Given the description of an element on the screen output the (x, y) to click on. 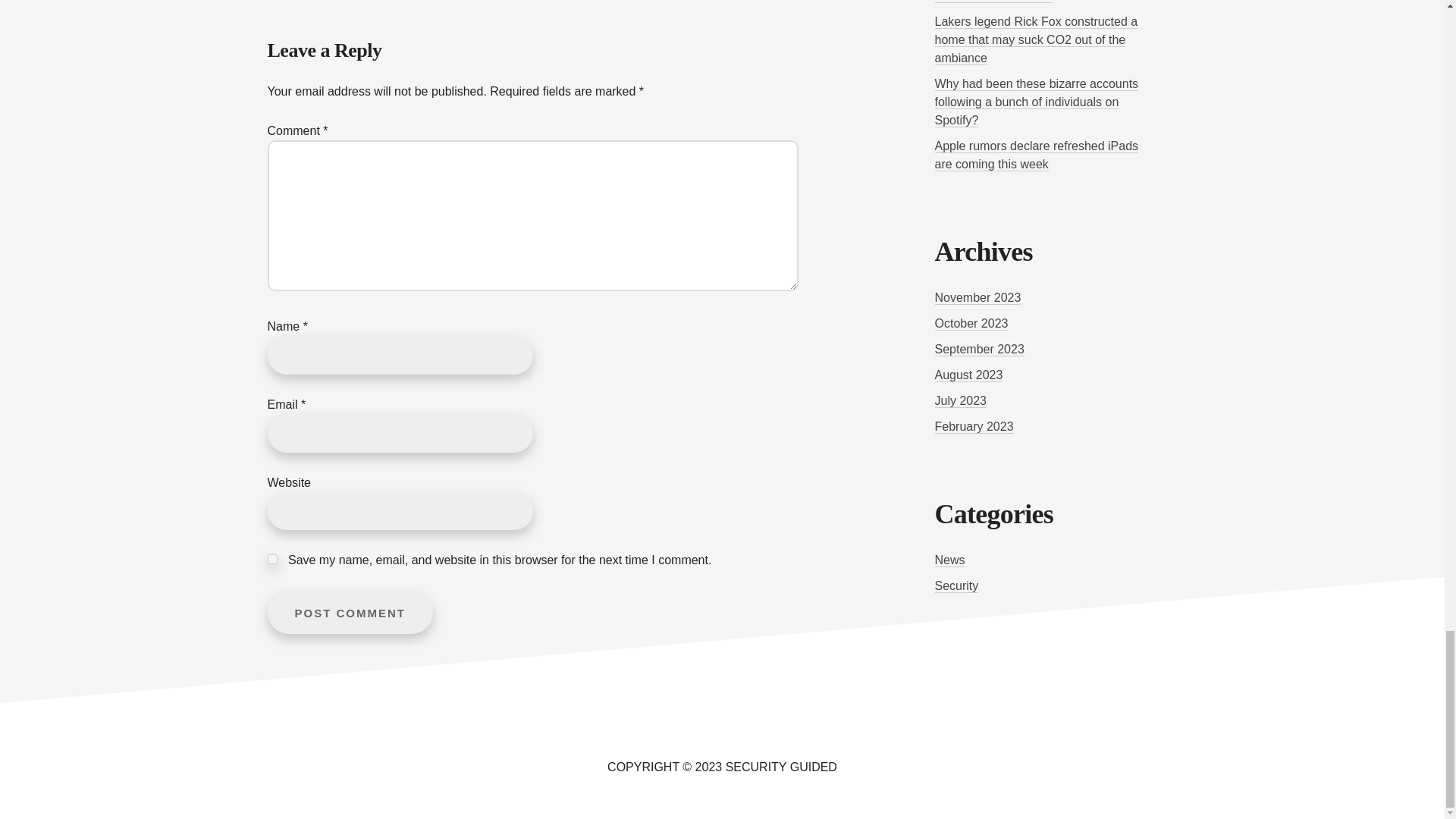
yes (271, 559)
Post Comment (349, 611)
